Given the description of an element on the screen output the (x, y) to click on. 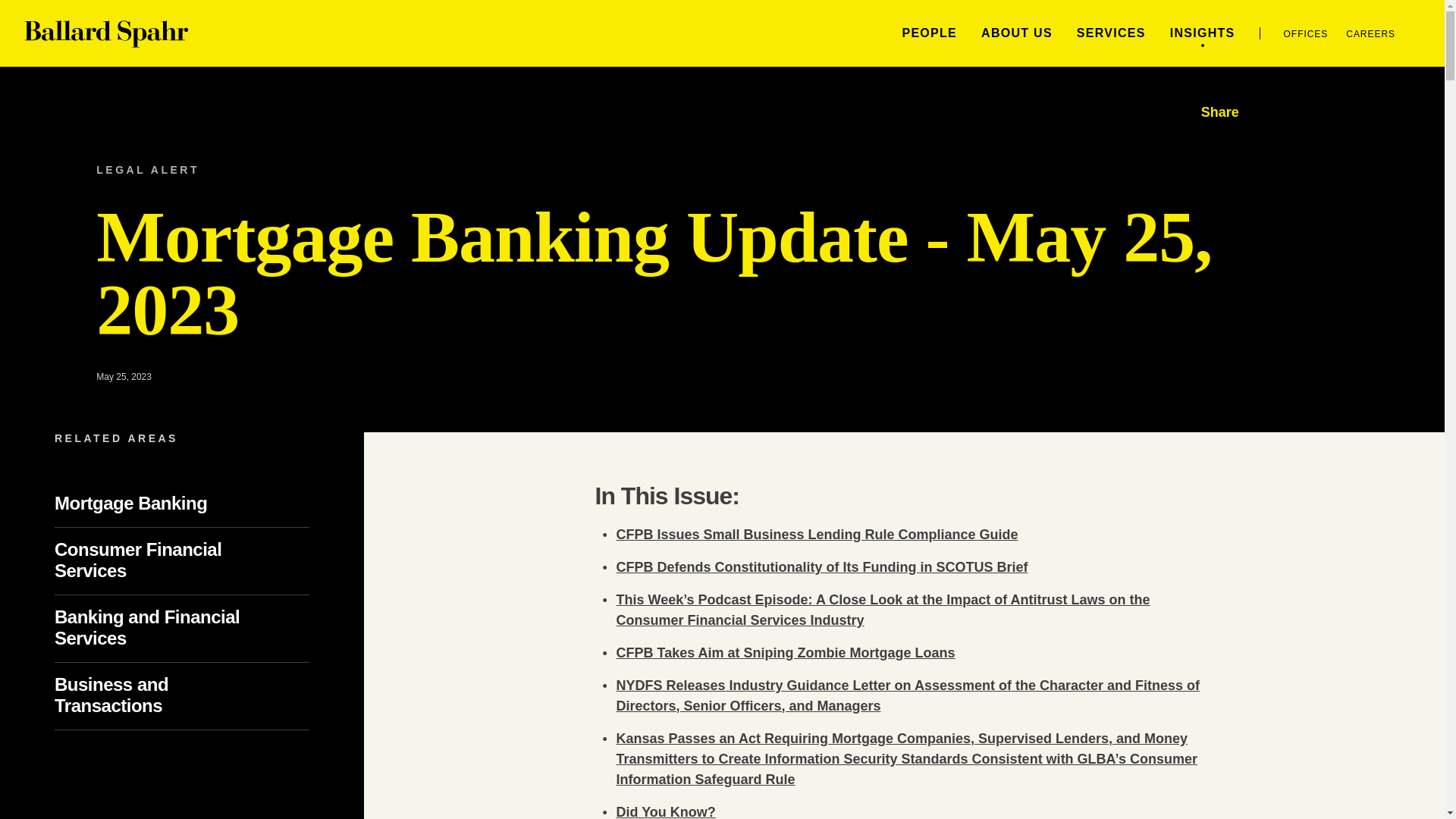
OFFICES (1305, 33)
Did You Know? (664, 811)
SERVICES (1111, 32)
ABOUT US (1016, 32)
CAREERS (1369, 33)
INSIGHTS (1202, 32)
PEOPLE (928, 32)
CFPB Issues Small Business Lending Rule Compliance Guide (816, 534)
CFPB Takes Aim at Sniping Zombie Mortgage Loans (785, 652)
